Given the description of an element on the screen output the (x, y) to click on. 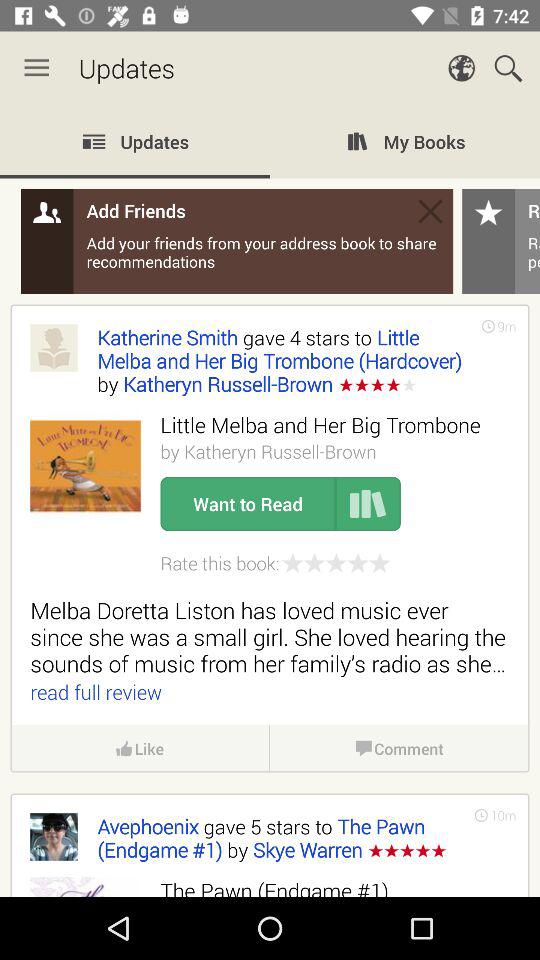
launch the app to the left of the updates app (36, 68)
